Given the description of an element on the screen output the (x, y) to click on. 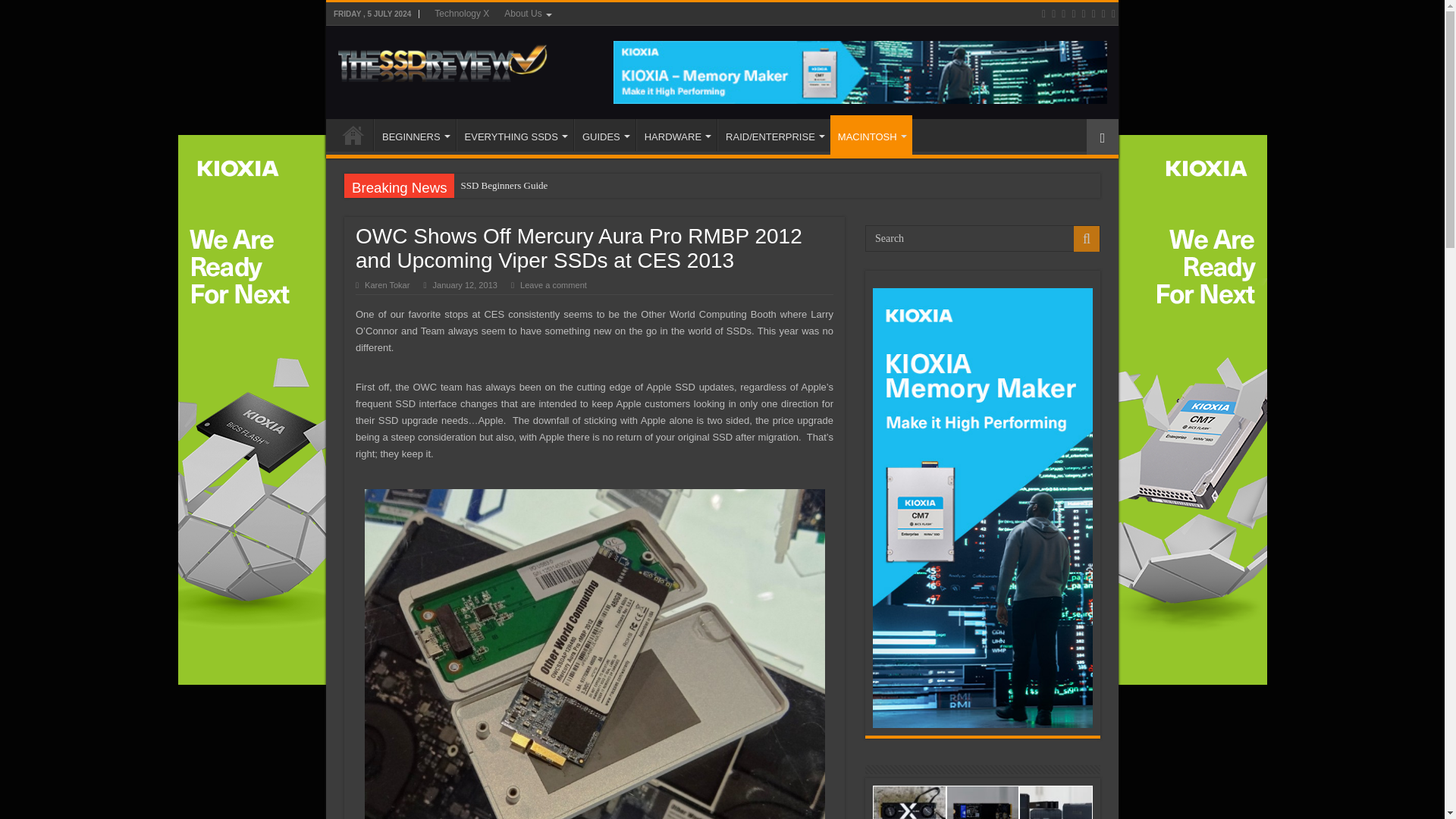
Search (982, 238)
